Given the description of an element on the screen output the (x, y) to click on. 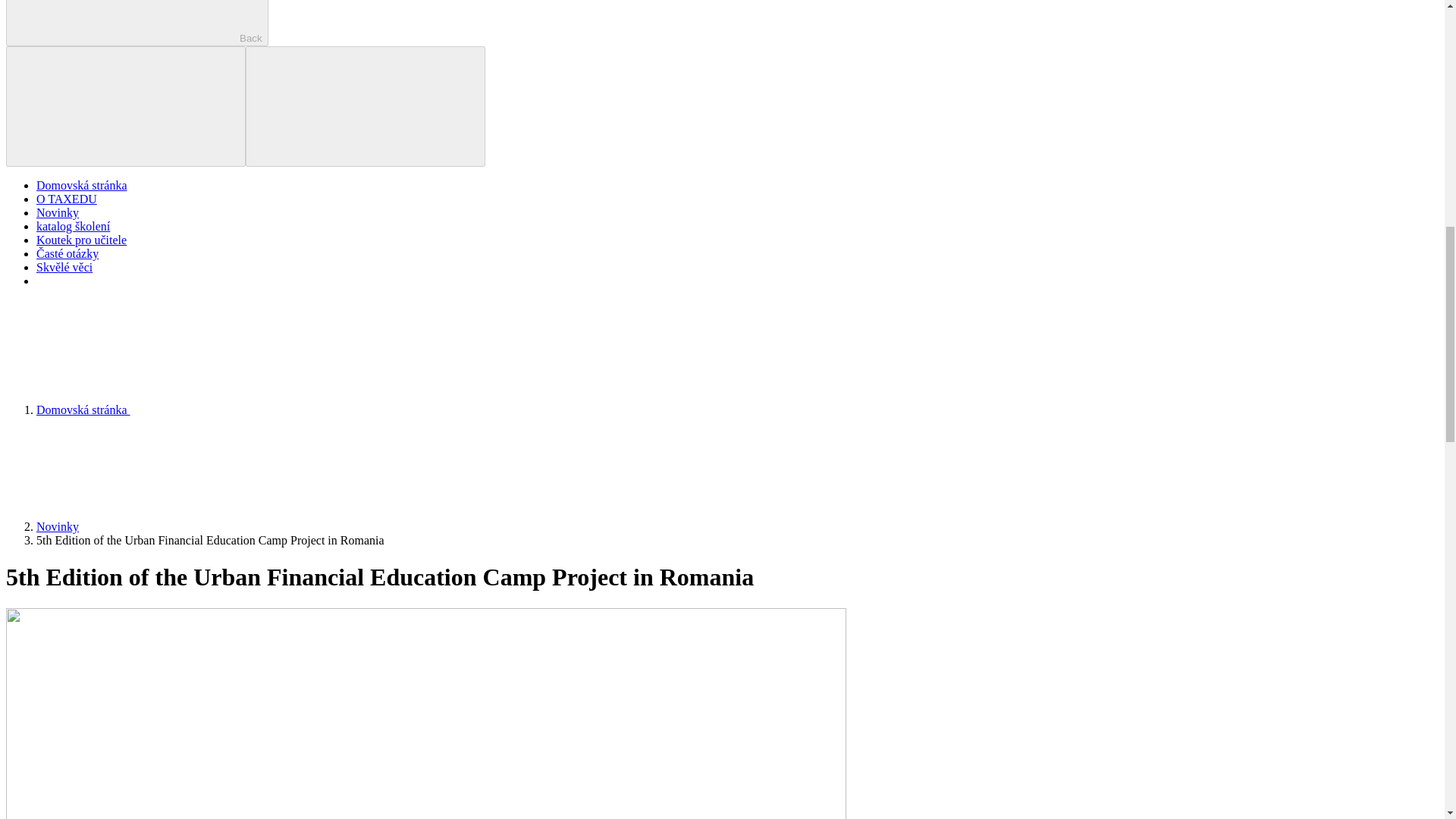
Novinky (57, 212)
Back (136, 22)
O TAXEDU (66, 198)
Novinky (57, 526)
